Given the description of an element on the screen output the (x, y) to click on. 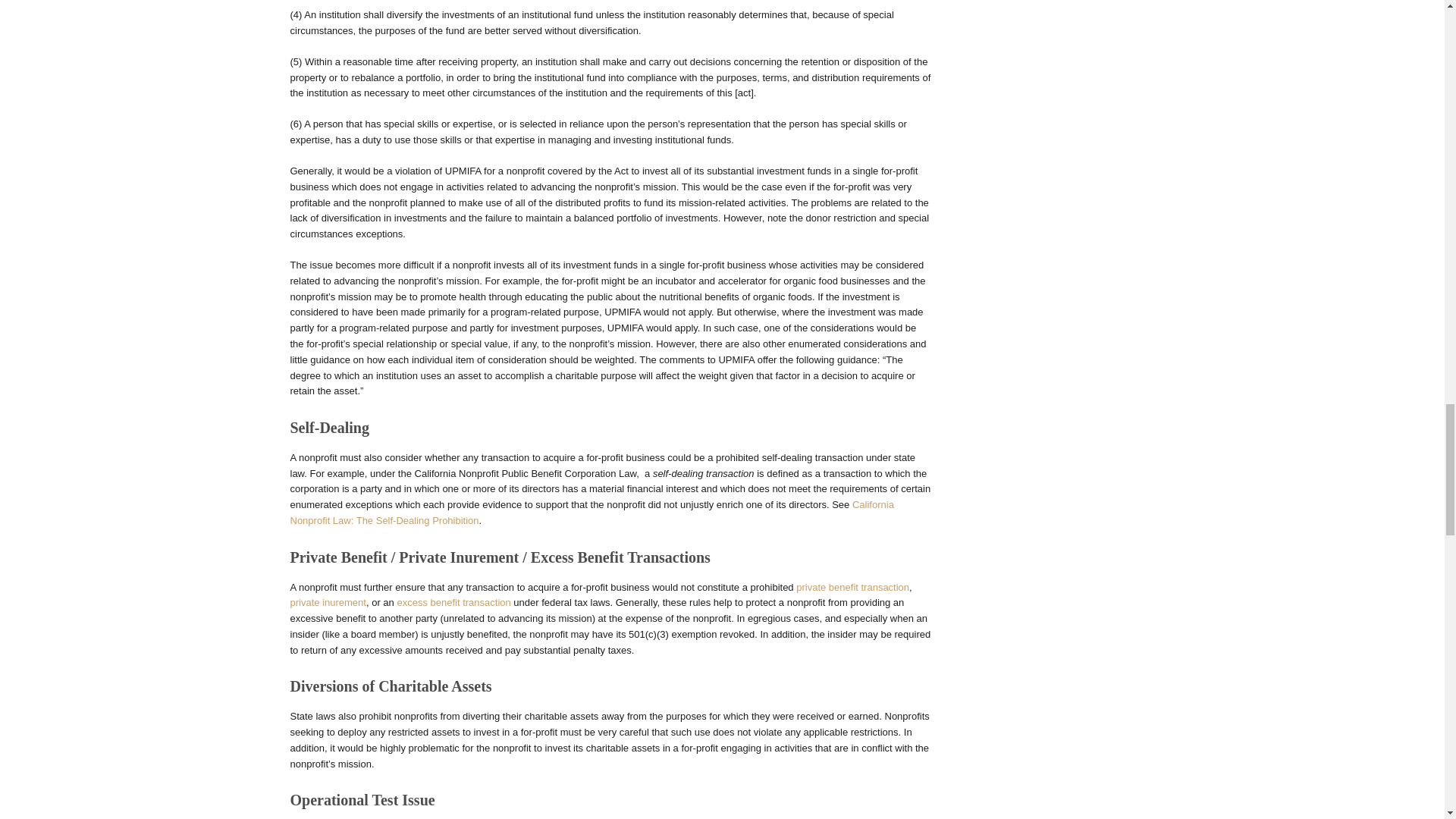
private benefit transaction (852, 586)
California Nonprofit Law: The Self-Dealing Prohibition (591, 512)
private inurement (327, 602)
excess benefit transaction (453, 602)
